Given the description of an element on the screen output the (x, y) to click on. 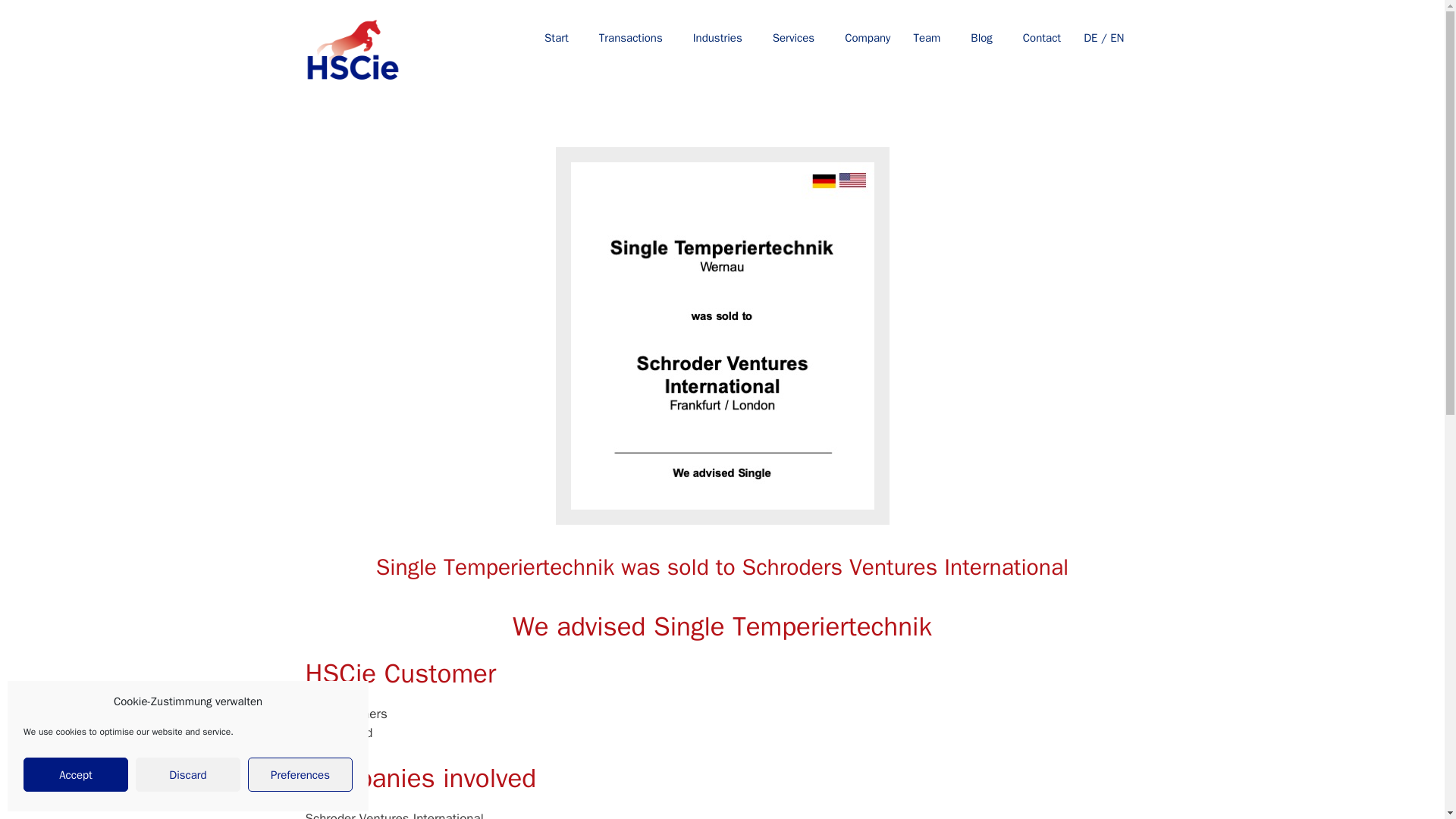
Accept (75, 774)
Transactions (630, 37)
Preferences (299, 774)
Discard (187, 774)
Industries (717, 37)
Start (556, 37)
Services (793, 37)
Blog (981, 37)
Contact (1037, 37)
Company (863, 37)
